Given the description of an element on the screen output the (x, y) to click on. 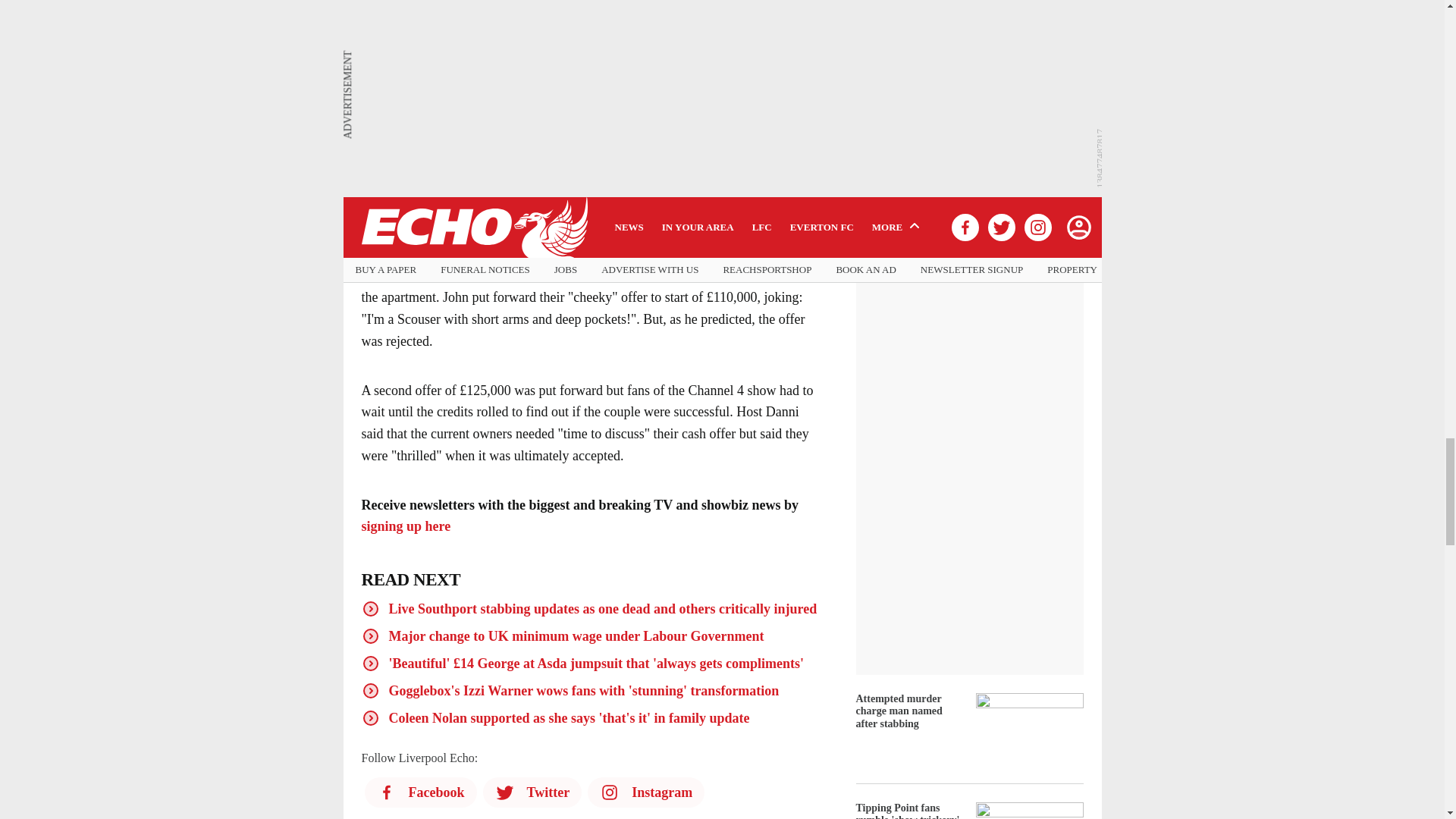
Read Next Article Icon (369, 608)
Read Next Article Icon (369, 636)
Read Next Article Icon (369, 690)
Read Next Article Icon (369, 663)
Read Next Article Icon (369, 718)
